Given the description of an element on the screen output the (x, y) to click on. 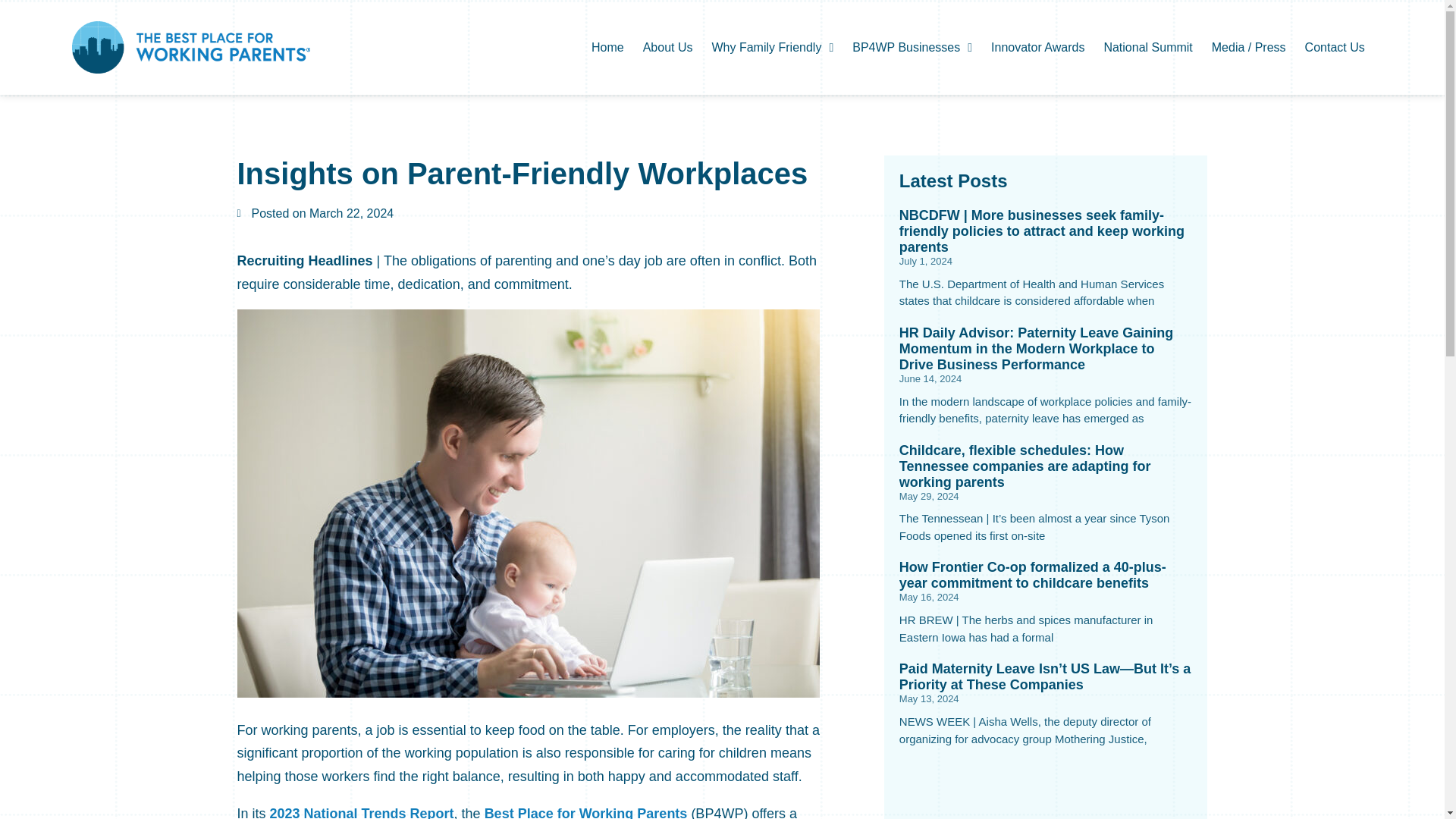
BP4WP Businesses (911, 47)
Home (607, 47)
About Us (667, 47)
Why Family Friendly (772, 47)
Contact Us (1335, 47)
National Summit (1147, 47)
Innovator Awards (1038, 47)
